Given the description of an element on the screen output the (x, y) to click on. 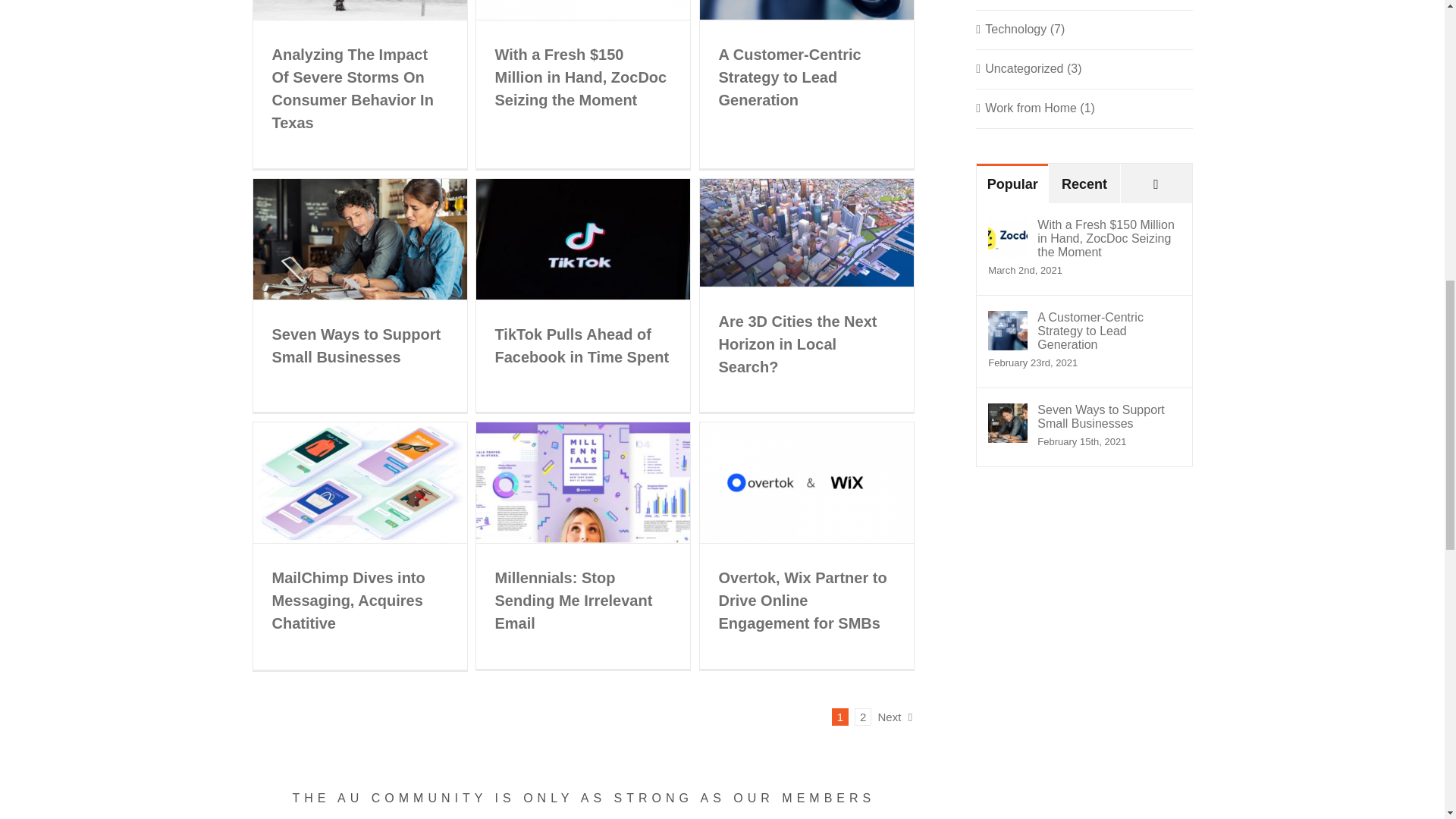
Millennials: Stop Sending Me Irrelevant Email (573, 600)
Seven Ways to Support Small Businesses (355, 345)
MailChimp Dives into Messaging, Acquires Chatitive (347, 600)
TikTok Pulls Ahead of Facebook in Time Spent (581, 345)
A Customer-Centric Strategy to Lead Generation (790, 76)
Are 3D Cities the Next Horizon in Local Search? (798, 343)
